Given the description of an element on the screen output the (x, y) to click on. 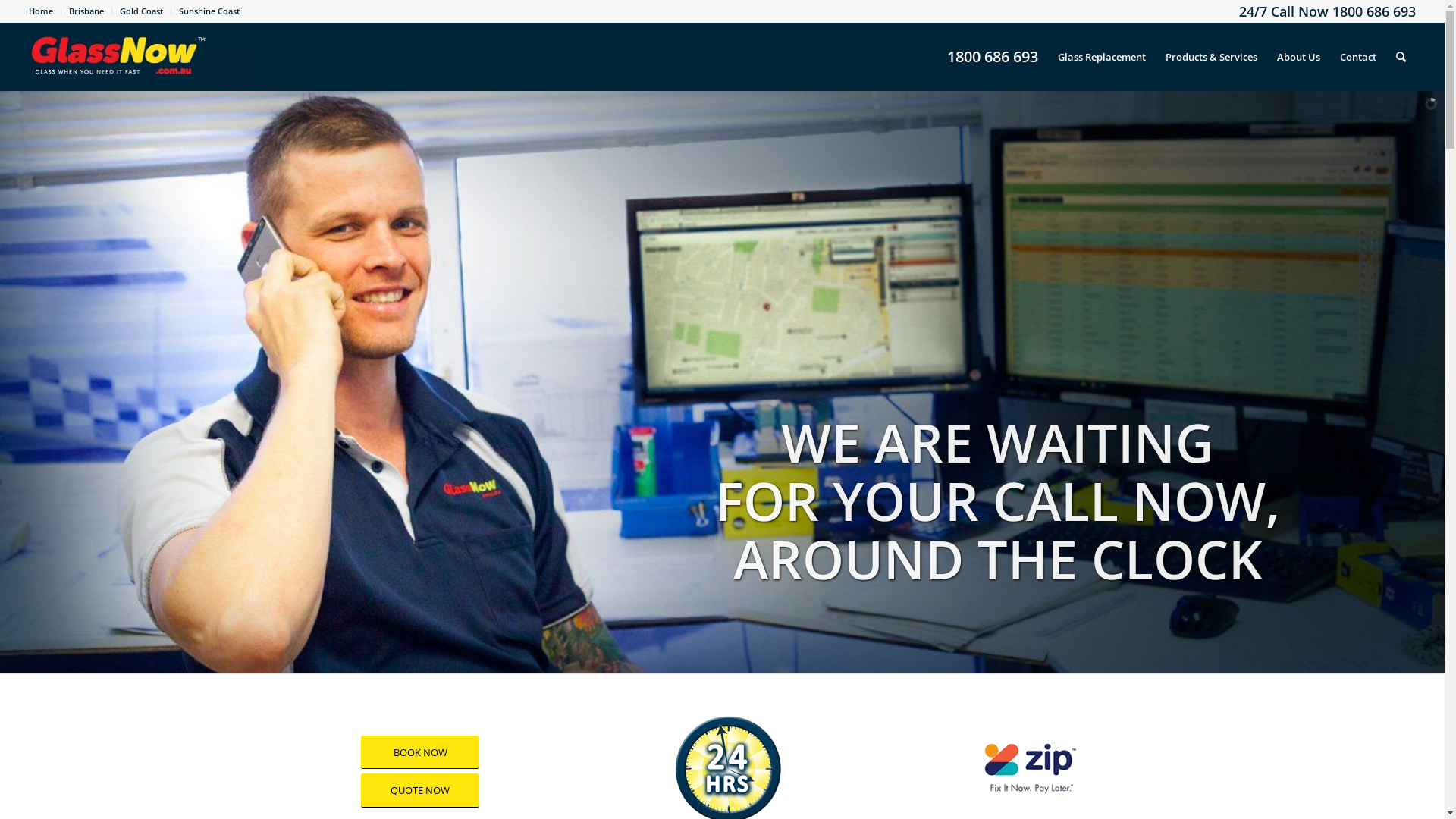
Home Element type: text (40, 10)
About Us Element type: text (1298, 56)
1800 686 693 Element type: text (992, 56)
Brisbane Element type: text (86, 10)
Contact Element type: text (1358, 56)
QUOTE NOW Element type: text (419, 790)
BOOK NOW Element type: text (419, 752)
Gold Coast Element type: text (141, 10)
Sunshine Coast Element type: text (208, 10)
Glass Replacement Element type: text (1101, 56)
24/7 Call Now 1800 686 693 Element type: text (1327, 11)
Products & Services Element type: text (1211, 56)
